Given the description of an element on the screen output the (x, y) to click on. 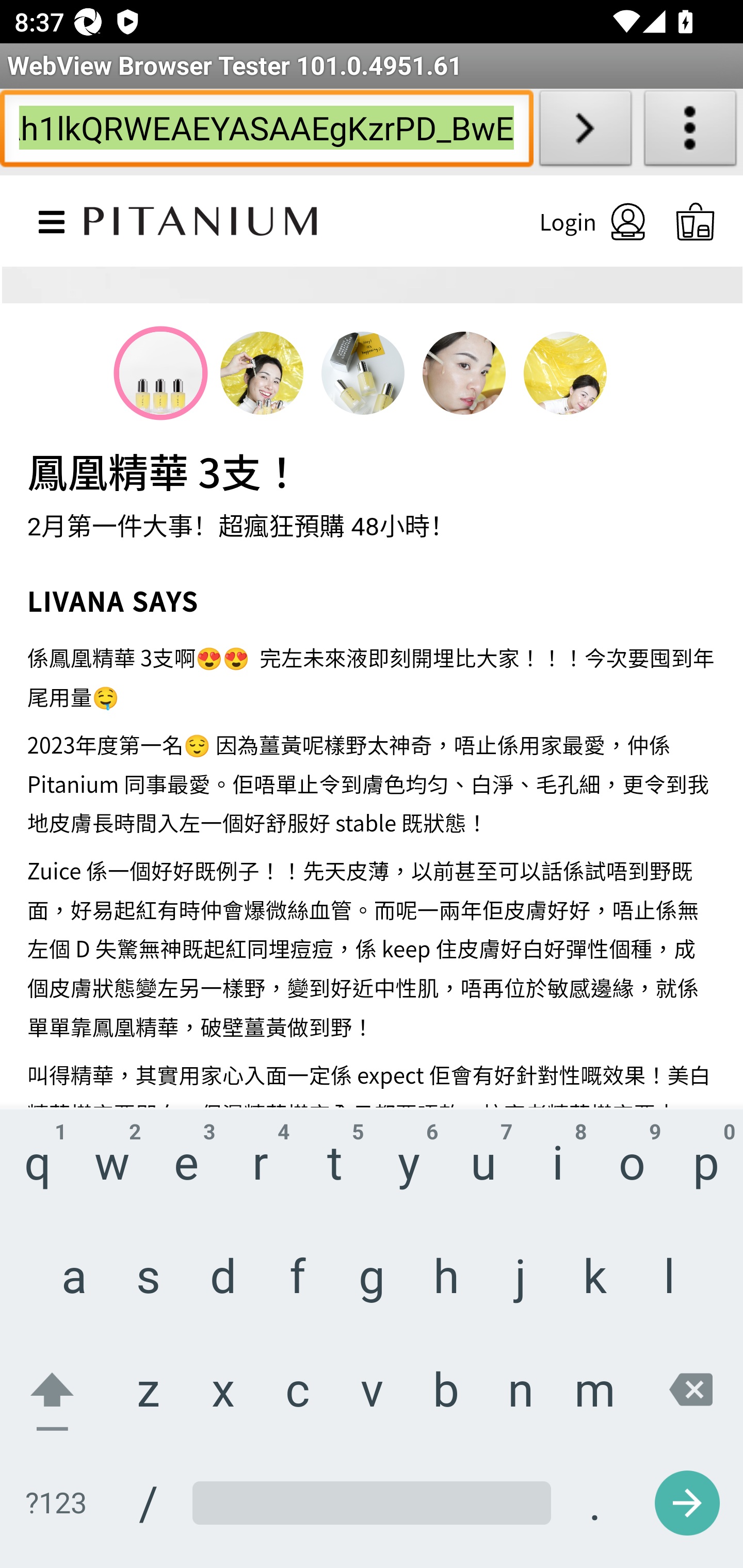
Load URL (585, 132)
About WebView (690, 132)
Login Account (575, 220)
shopping bag (695, 220)
Brand Logo (201, 216)
